Given the description of an element on the screen output the (x, y) to click on. 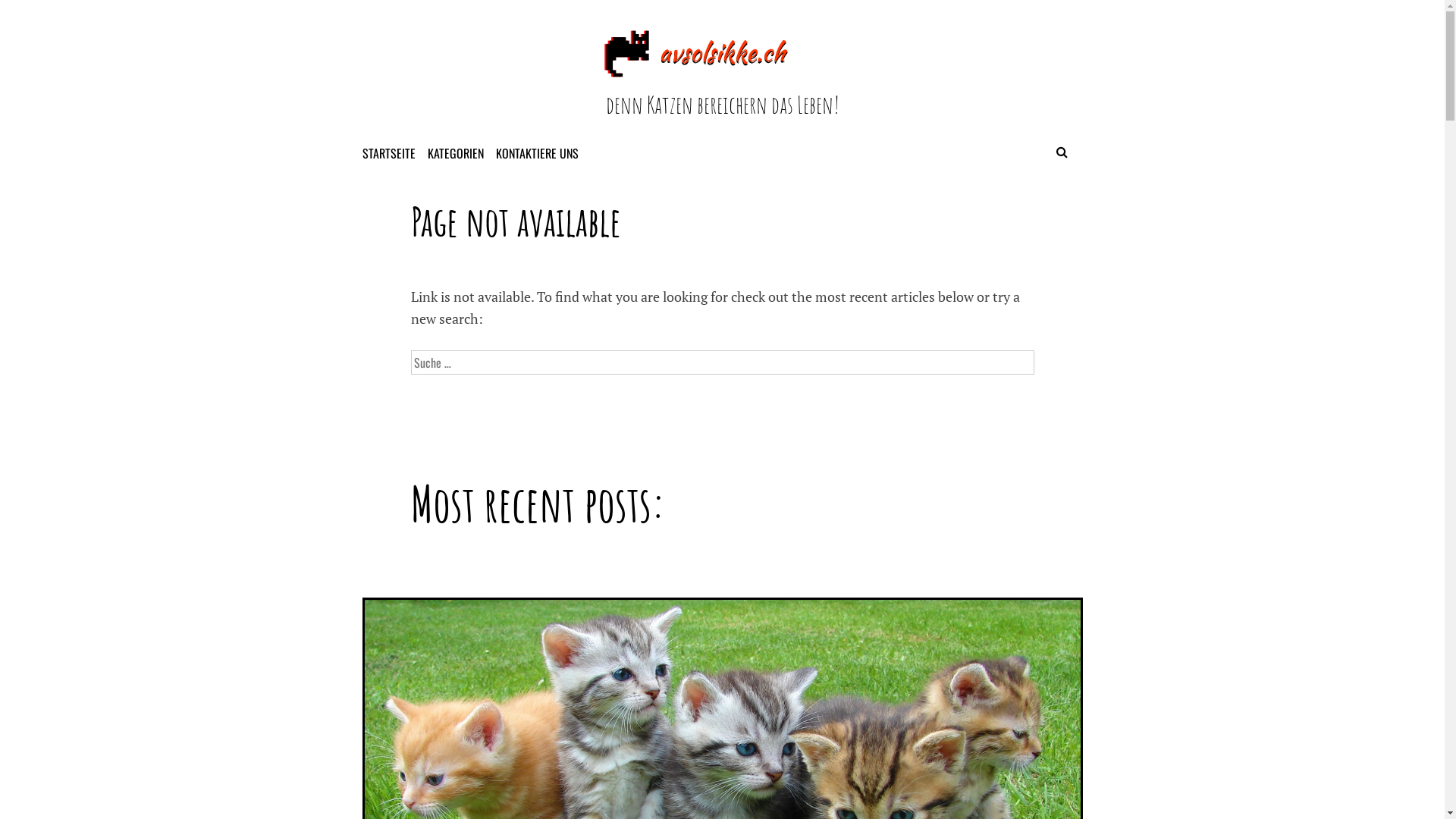
//Skip to content Element type: text (1443, 0)
Suche Element type: text (360, 18)
STARTSEITE Element type: text (394, 152)
KONTAKTIERE UNS Element type: text (542, 152)
KATEGORIEN Element type: text (461, 152)
